Given the description of an element on the screen output the (x, y) to click on. 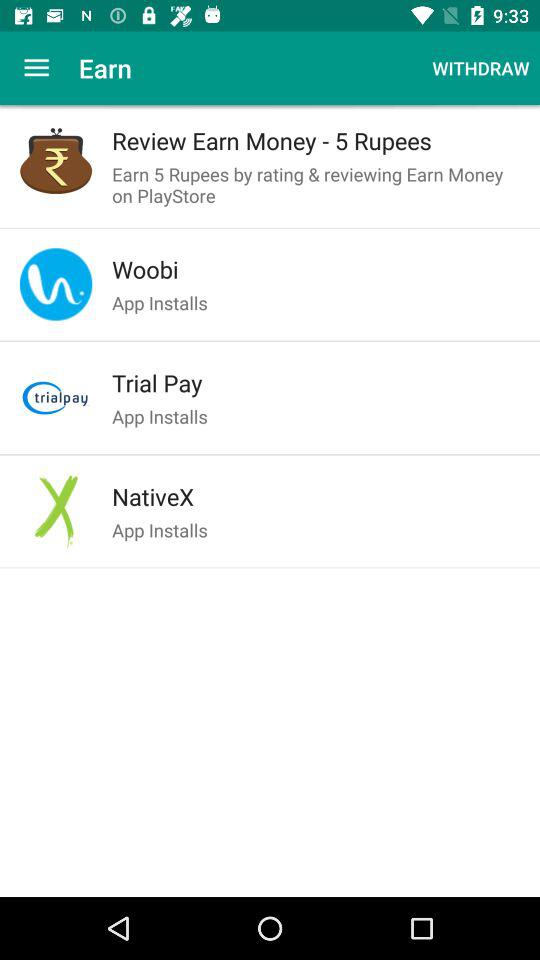
choose the app to the left of the earn (36, 68)
